Given the description of an element on the screen output the (x, y) to click on. 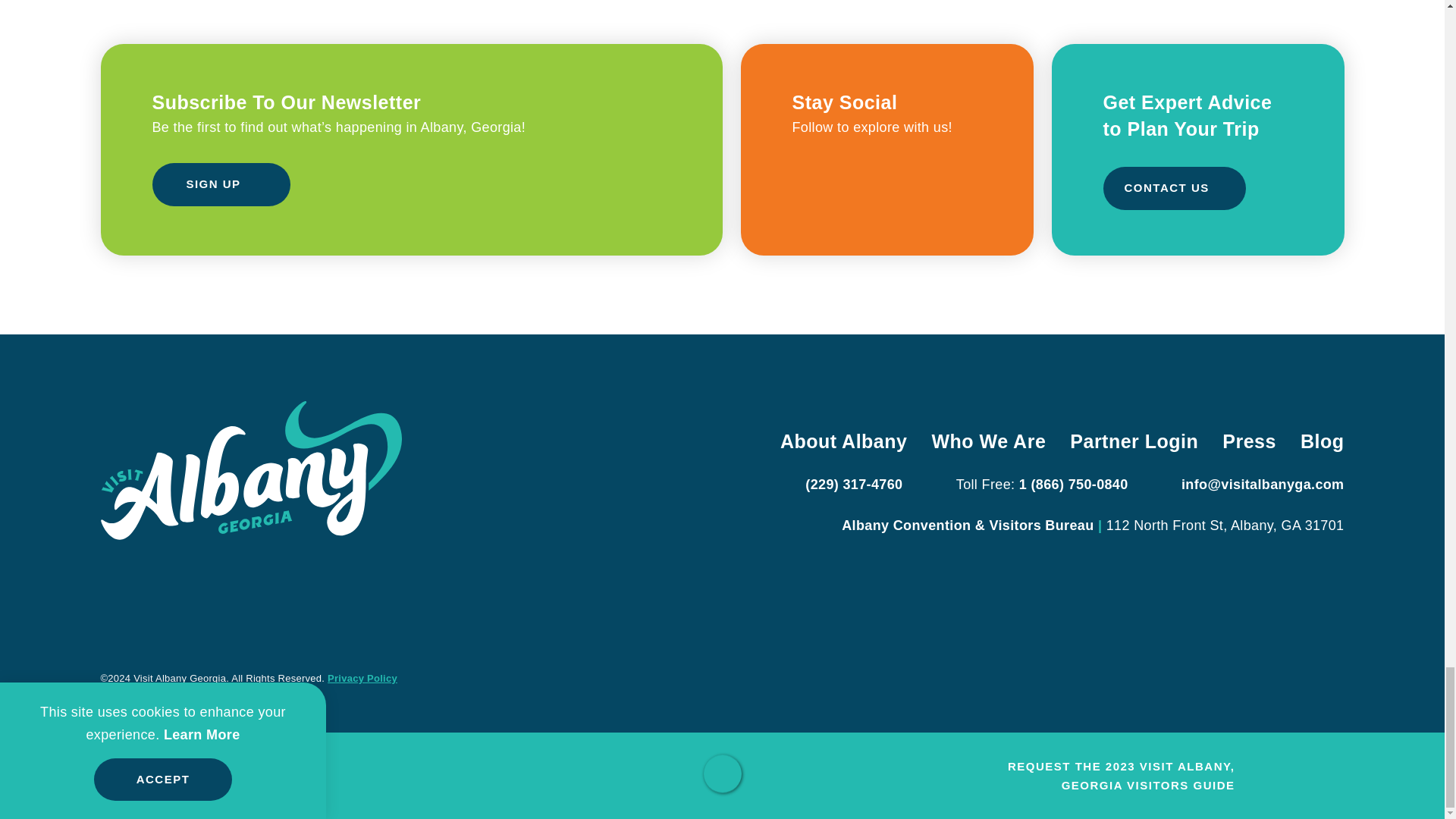
Press (1249, 441)
Blog (1321, 441)
SIGN UP (220, 184)
About Albany (843, 441)
Partner Login (1134, 441)
CONTACT US (1173, 188)
Who We Are (988, 441)
